Given the description of an element on the screen output the (x, y) to click on. 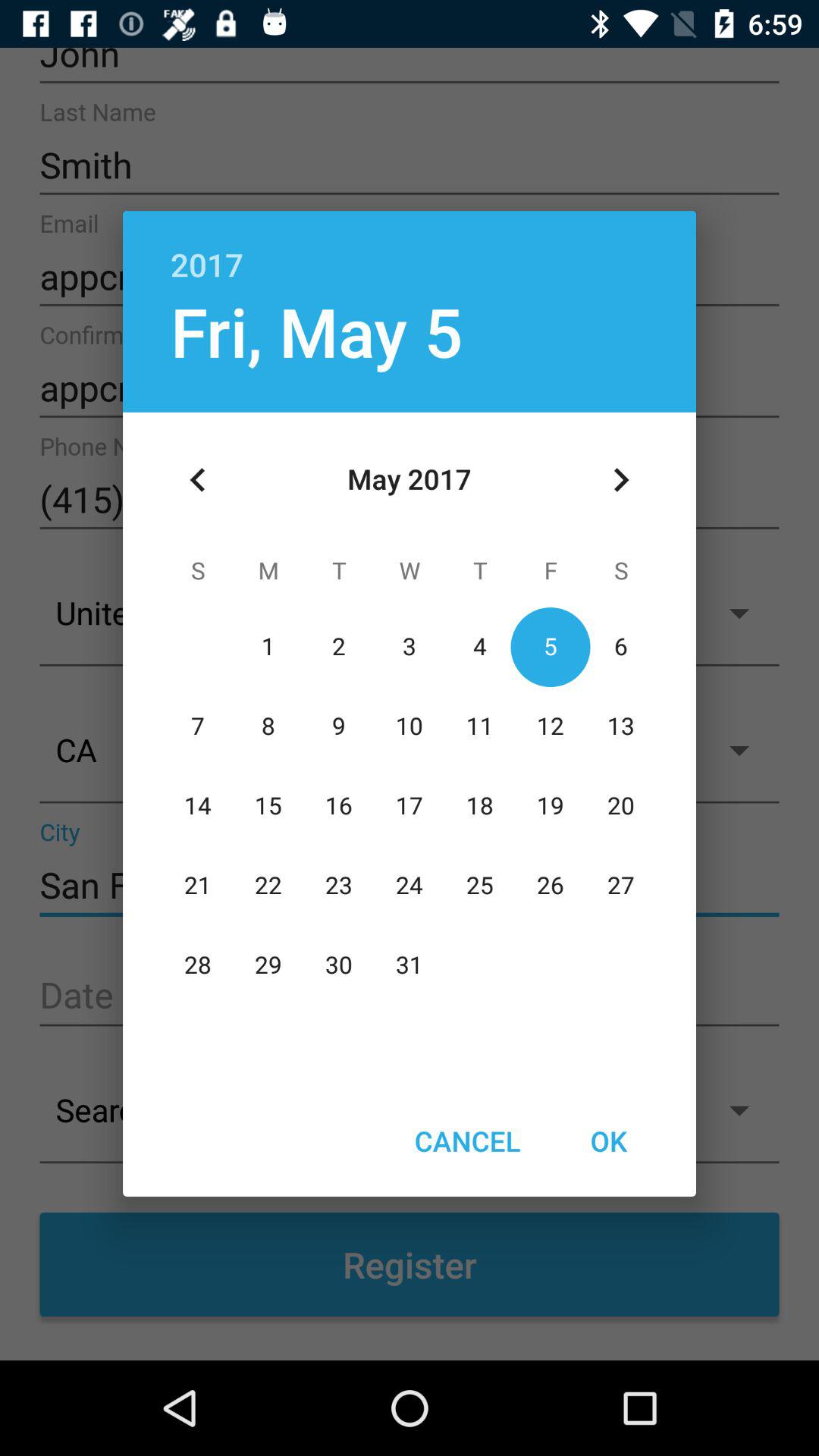
select the icon below the 2017 item (620, 479)
